Given the description of an element on the screen output the (x, y) to click on. 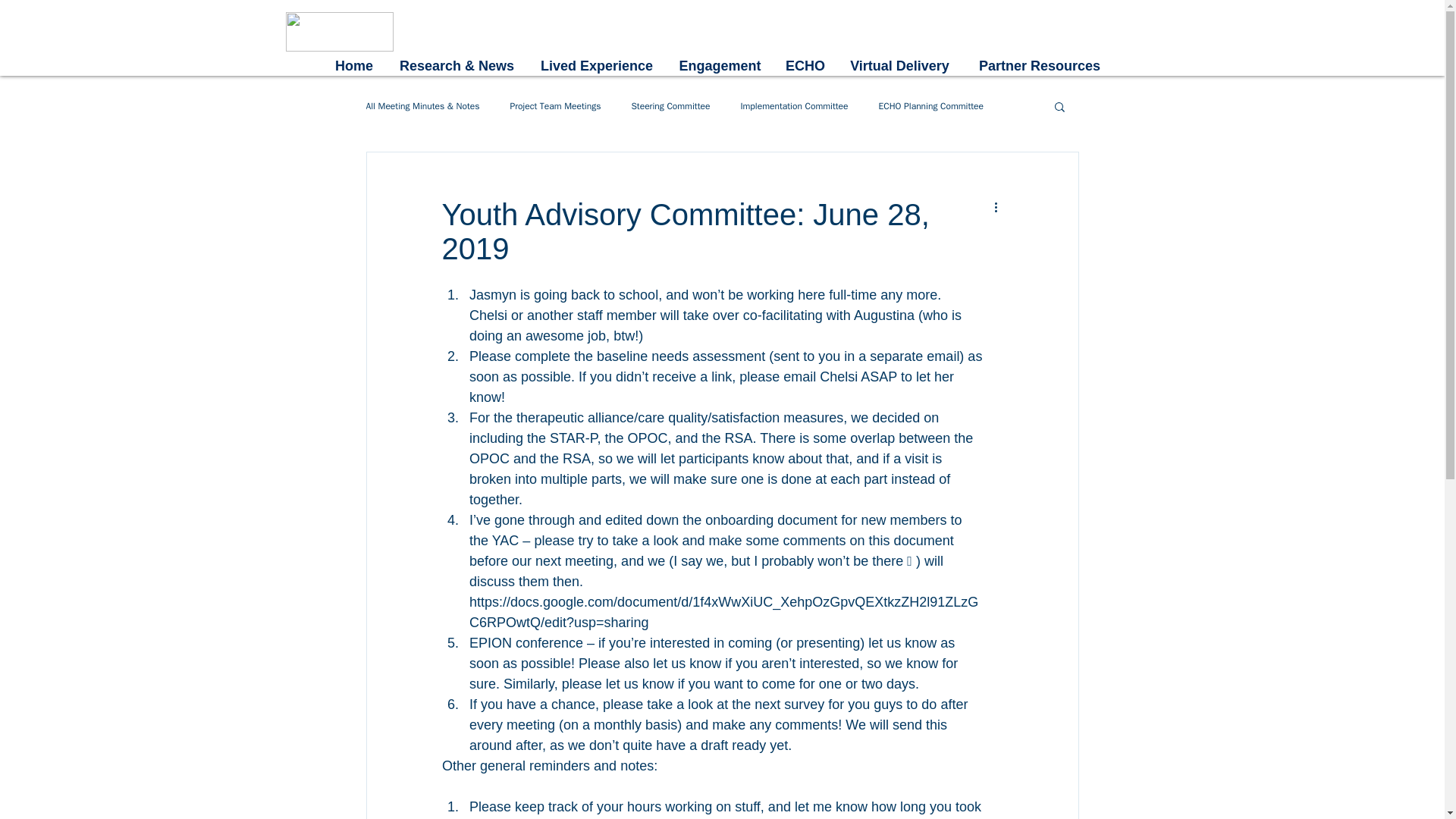
Implementation Committee (793, 106)
Engagement (719, 66)
Virtual Delivery (899, 66)
Home (353, 66)
Partner Resources (1039, 66)
ECHO Planning Committee (931, 106)
ECHO (804, 66)
Lived Experience (596, 66)
Project Team Meetings (556, 106)
Steering Committee (670, 106)
